Given the description of an element on the screen output the (x, y) to click on. 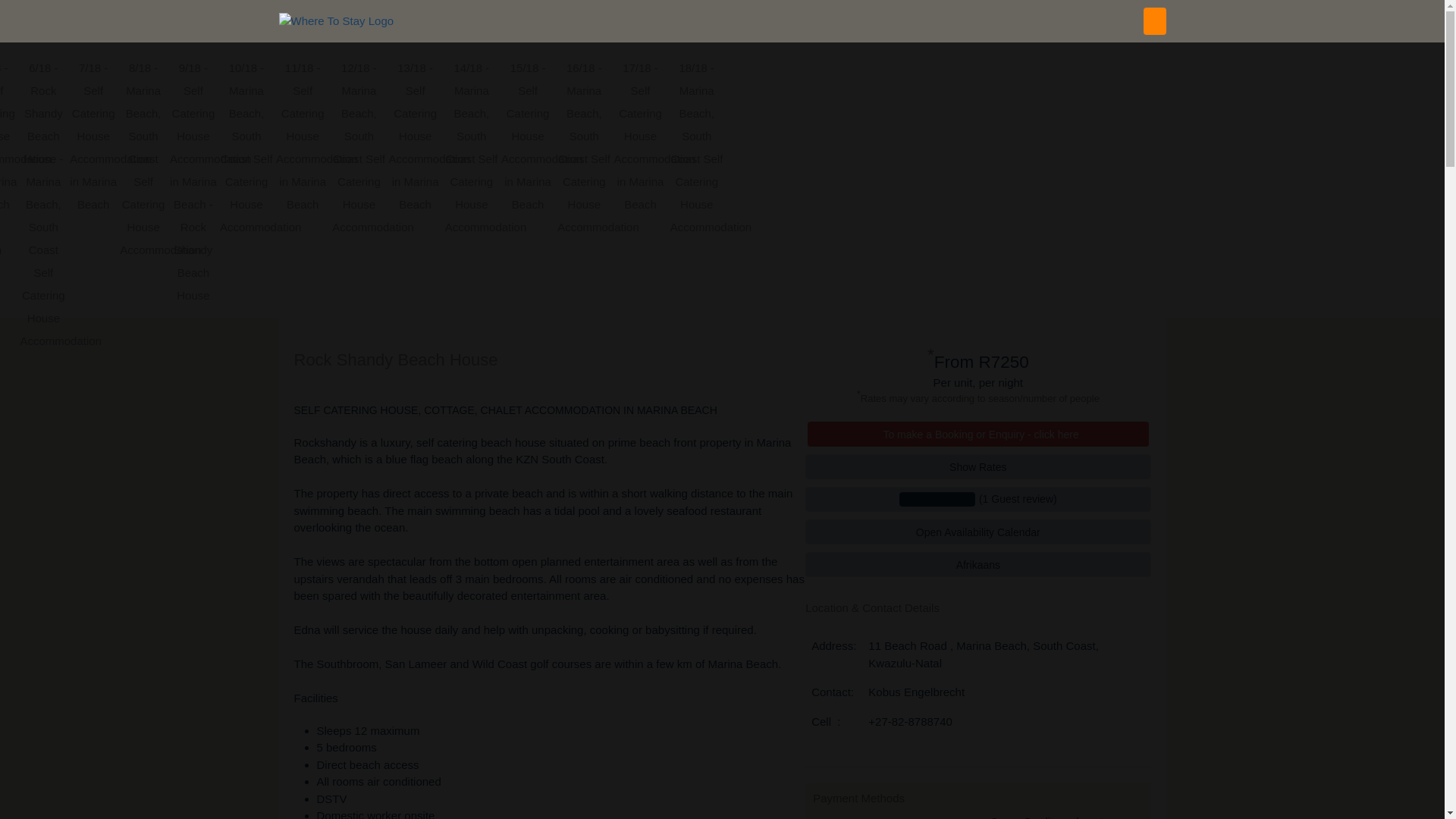
SELF CATERING IN MARINA BEACH (767, 19)
SOUTH COAST ACCOMMODATION (372, 19)
Open Availability Calendar (977, 531)
  To make a Booking or Enquiry - click here (978, 433)
10 out of 5 (977, 498)
Afrikaans (977, 564)
Show Rates (977, 466)
Where To Stay (336, 21)
MARINA BEACH ACCOMMODATION (568, 19)
